Given the description of an element on the screen output the (x, y) to click on. 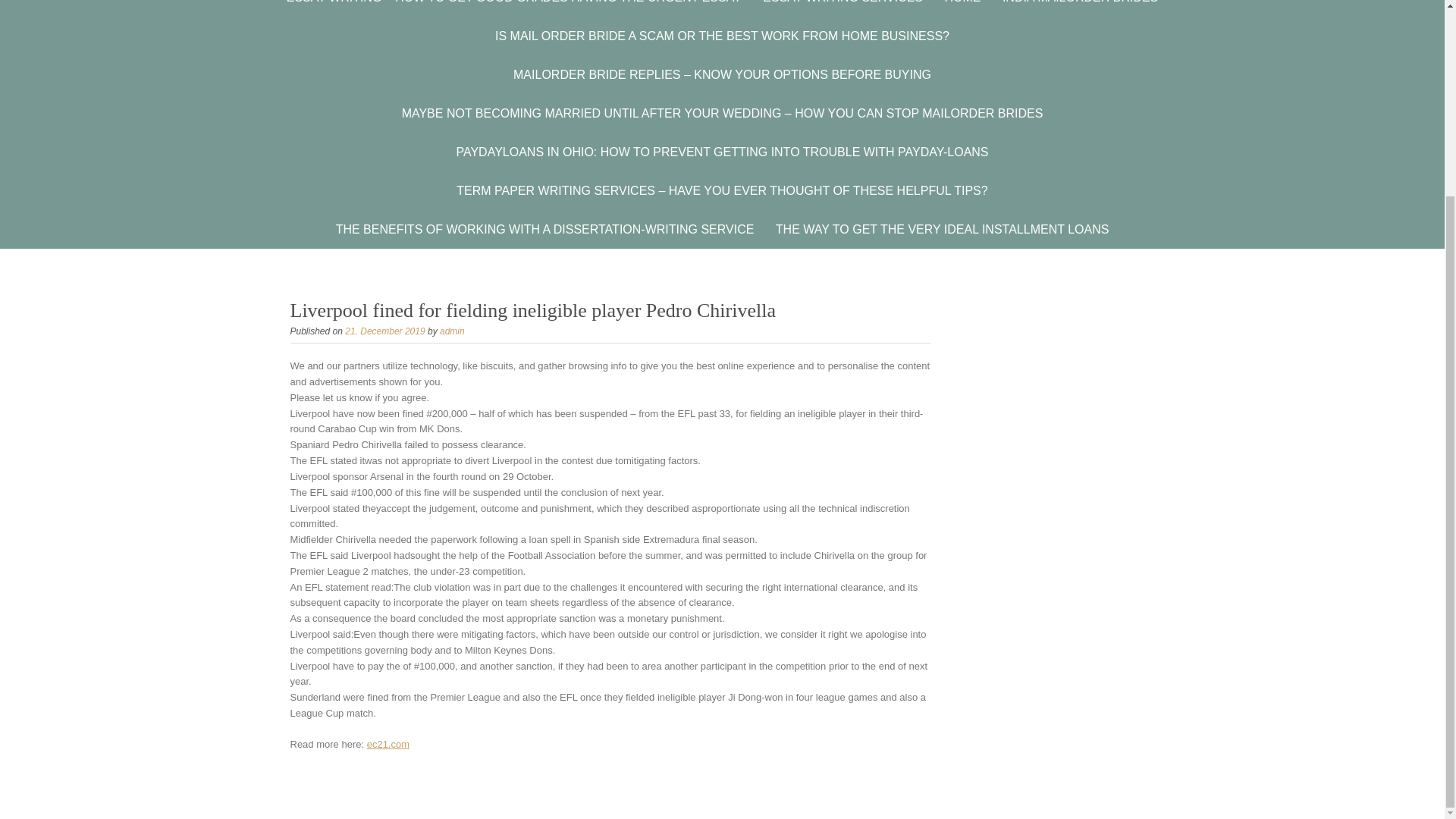
INDIA MAILORDER BRIDES (1079, 8)
THE BENEFITS OF WORKING WITH A DISSERTATION-WRITING SERVICE (544, 228)
ESSAY WRITING SERVICES (842, 8)
21. December 2019 (385, 330)
ec21.com (387, 744)
HOME (962, 8)
admin (451, 330)
THE WAY TO GET THE VERY IDEAL INSTALLMENT LOANS (942, 228)
